Given the description of an element on the screen output the (x, y) to click on. 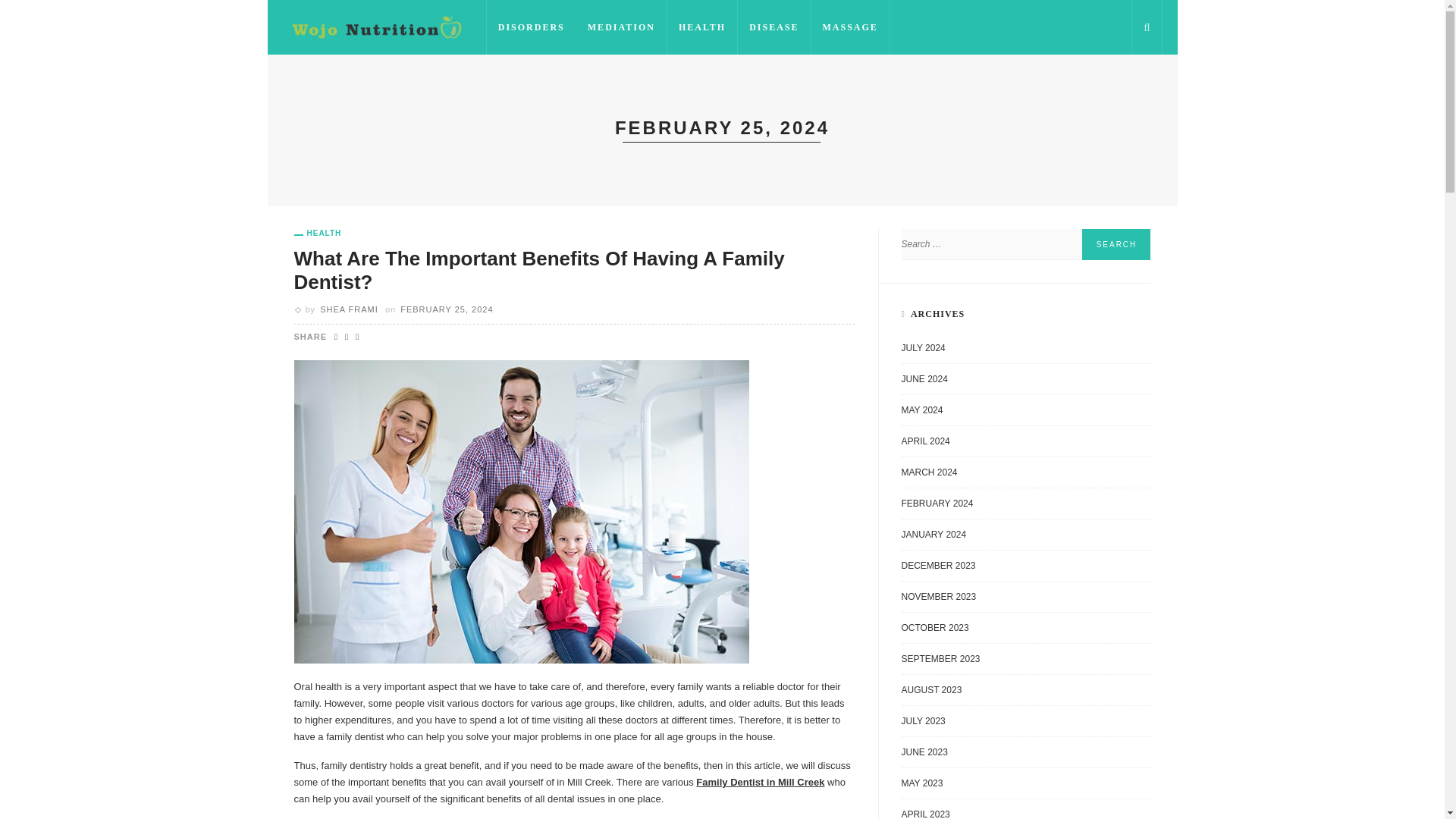
Search (1115, 244)
Wojo Nutrition (376, 26)
Search (1115, 244)
Health (318, 233)
